Given the description of an element on the screen output the (x, y) to click on. 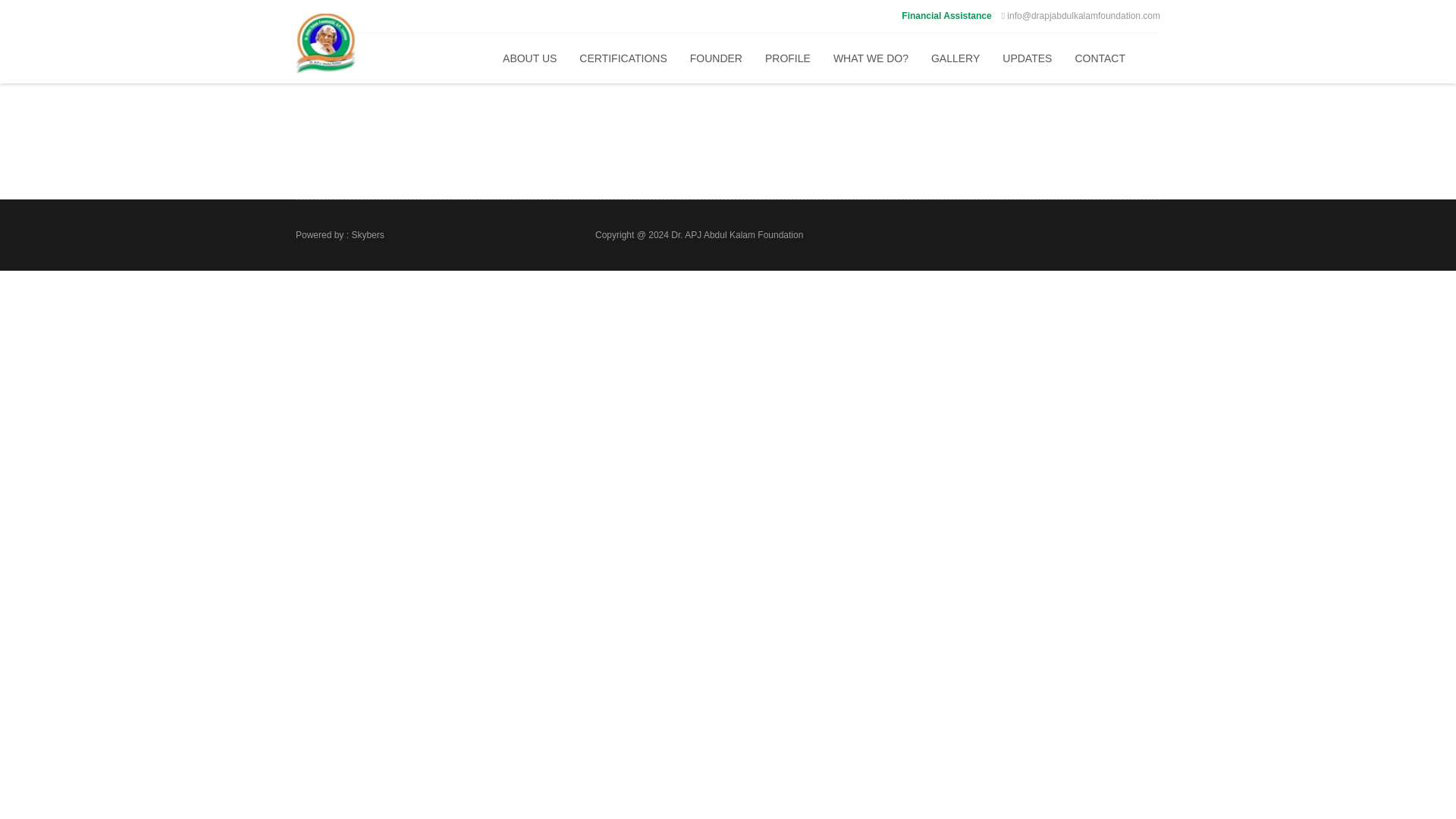
WHAT WE DO? (871, 58)
GALLERY (955, 58)
Financial Assistance (946, 15)
CERTIFICATIONS (622, 58)
PROFILE (788, 58)
CONTACT (1099, 58)
ABOUT US (529, 58)
FOUNDER (716, 58)
UPDATES (1026, 58)
Skybers (367, 235)
